Given the description of an element on the screen output the (x, y) to click on. 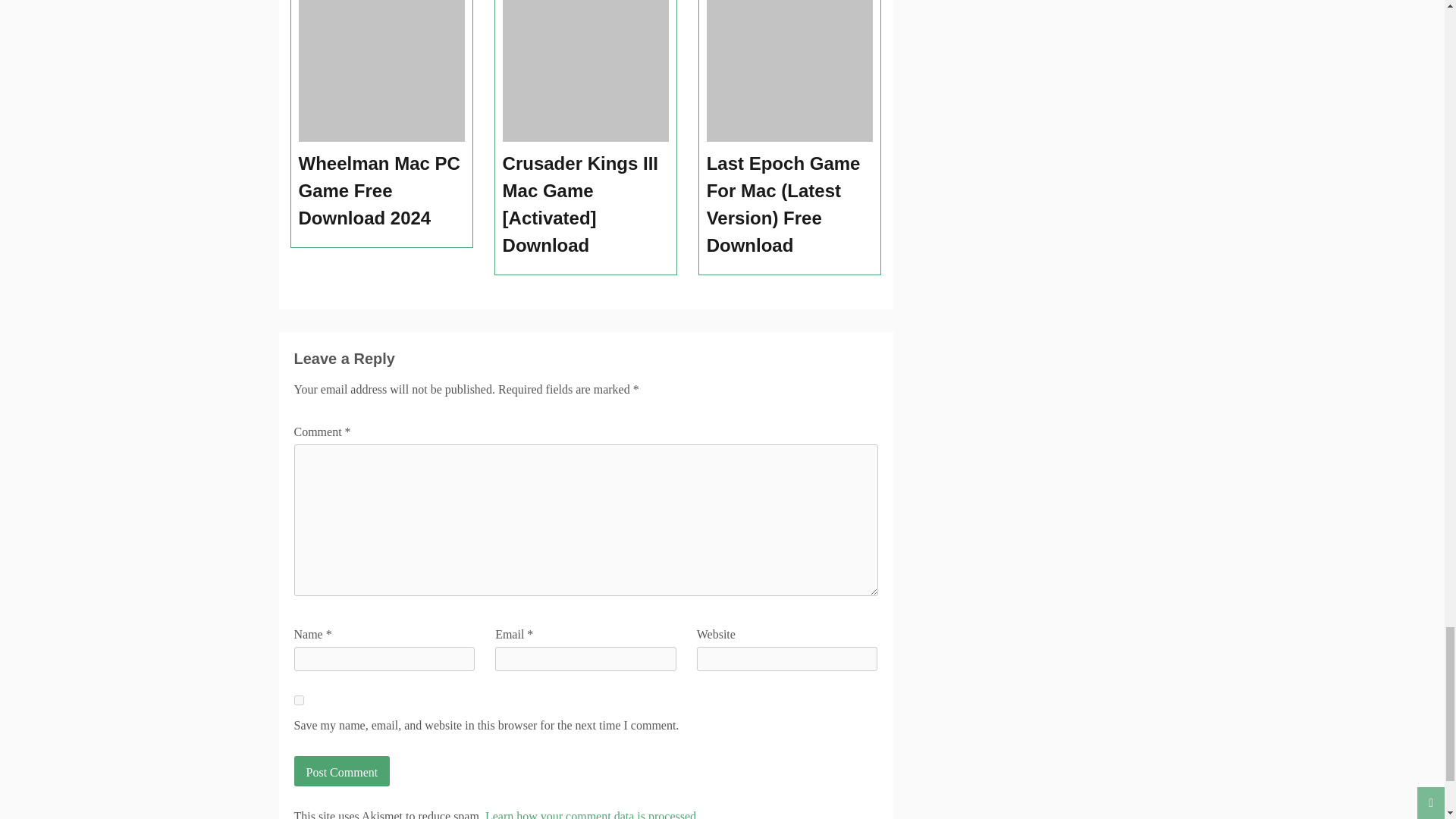
yes (299, 700)
Post Comment (342, 770)
